Given the description of an element on the screen output the (x, y) to click on. 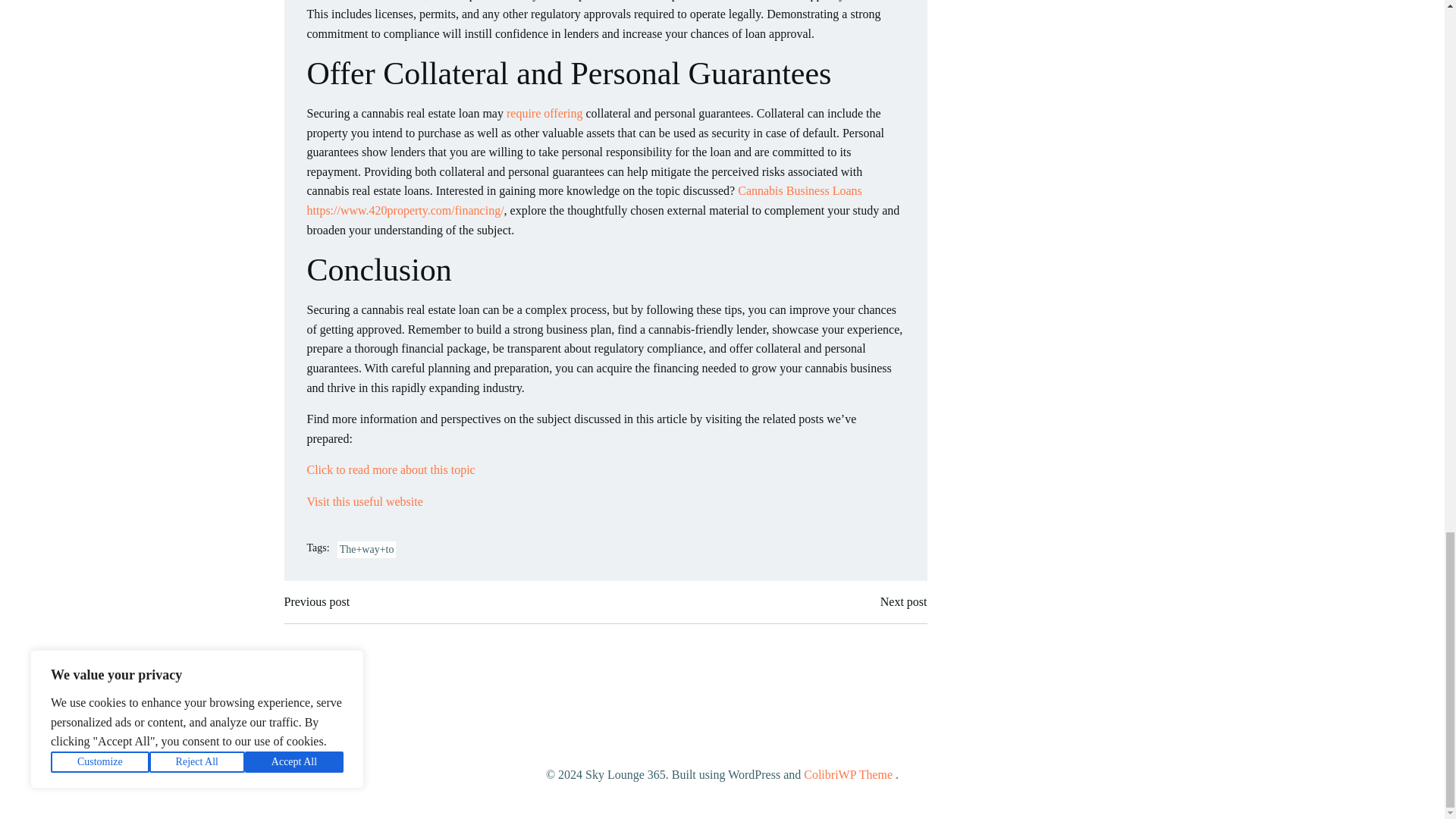
Previous post (316, 601)
Click to read more about this topic (389, 469)
require offering (544, 113)
Next post (903, 601)
Visit this useful website (363, 501)
